Given the description of an element on the screen output the (x, y) to click on. 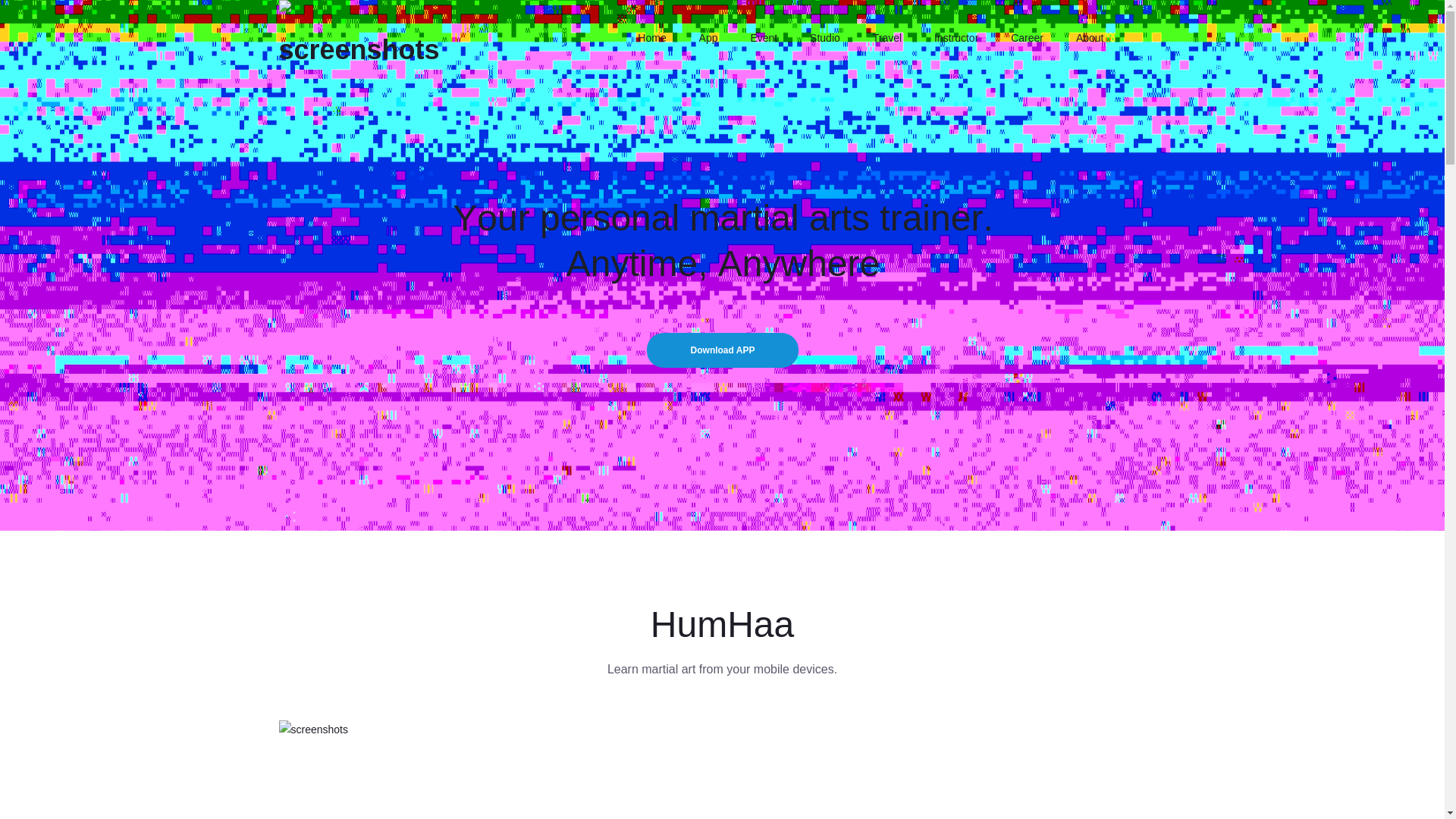
Download APP (721, 349)
MA-Trainer (359, 43)
